Given the description of an element on the screen output the (x, y) to click on. 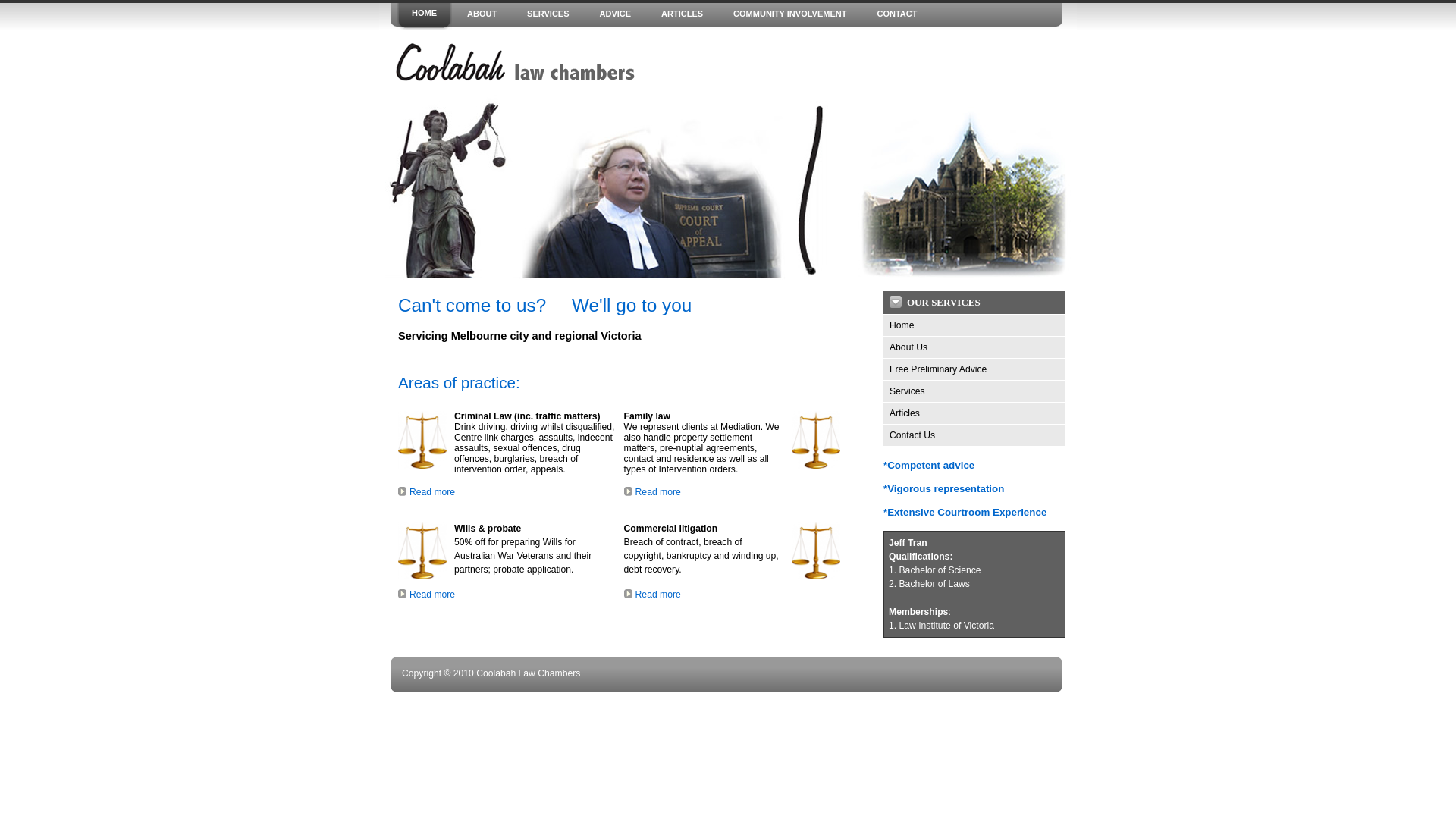
Read more Element type: text (432, 594)
Services Element type: text (974, 391)
CONTACT Element type: text (896, 15)
Articles Element type: text (974, 413)
Home Element type: text (974, 325)
Free Preliminary Advice Element type: text (974, 369)
About Us Element type: text (974, 347)
Read more Element type: text (432, 491)
HOME Element type: text (423, 15)
ABOUT Element type: text (481, 15)
Read more Element type: text (657, 594)
SERVICES Element type: text (547, 15)
Contact Us Element type: text (974, 435)
ADVICE Element type: text (615, 15)
Read more Element type: text (657, 491)
COMMUNITY INVOLVEMENT Element type: text (789, 15)
ARTICLES Element type: text (682, 15)
